Given the description of an element on the screen output the (x, y) to click on. 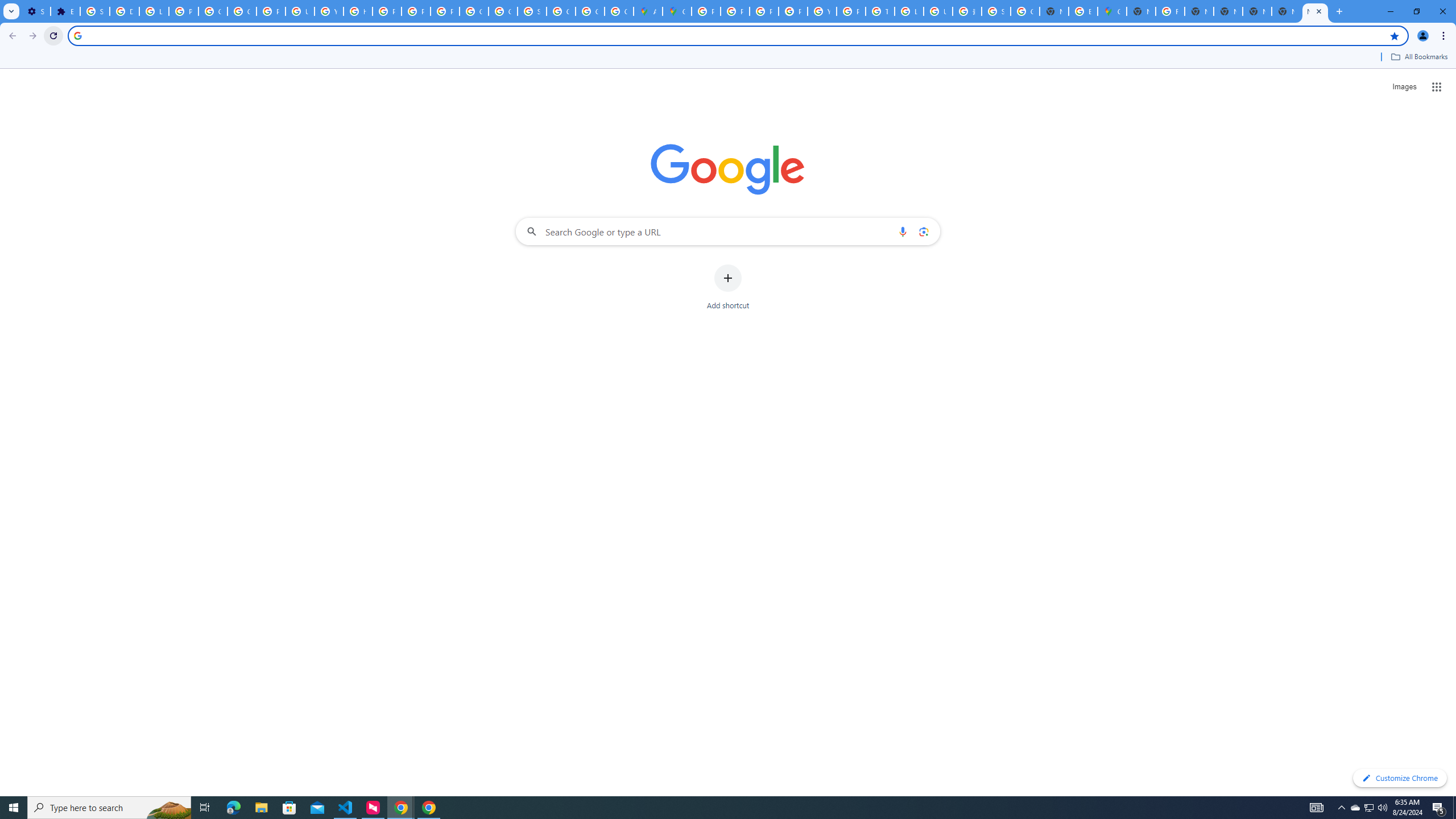
Sign in - Google Accounts (531, 11)
Privacy Help Center - Policies Help (386, 11)
Privacy Help Center - Policies Help (763, 11)
New Tab (1315, 11)
